Given the description of an element on the screen output the (x, y) to click on. 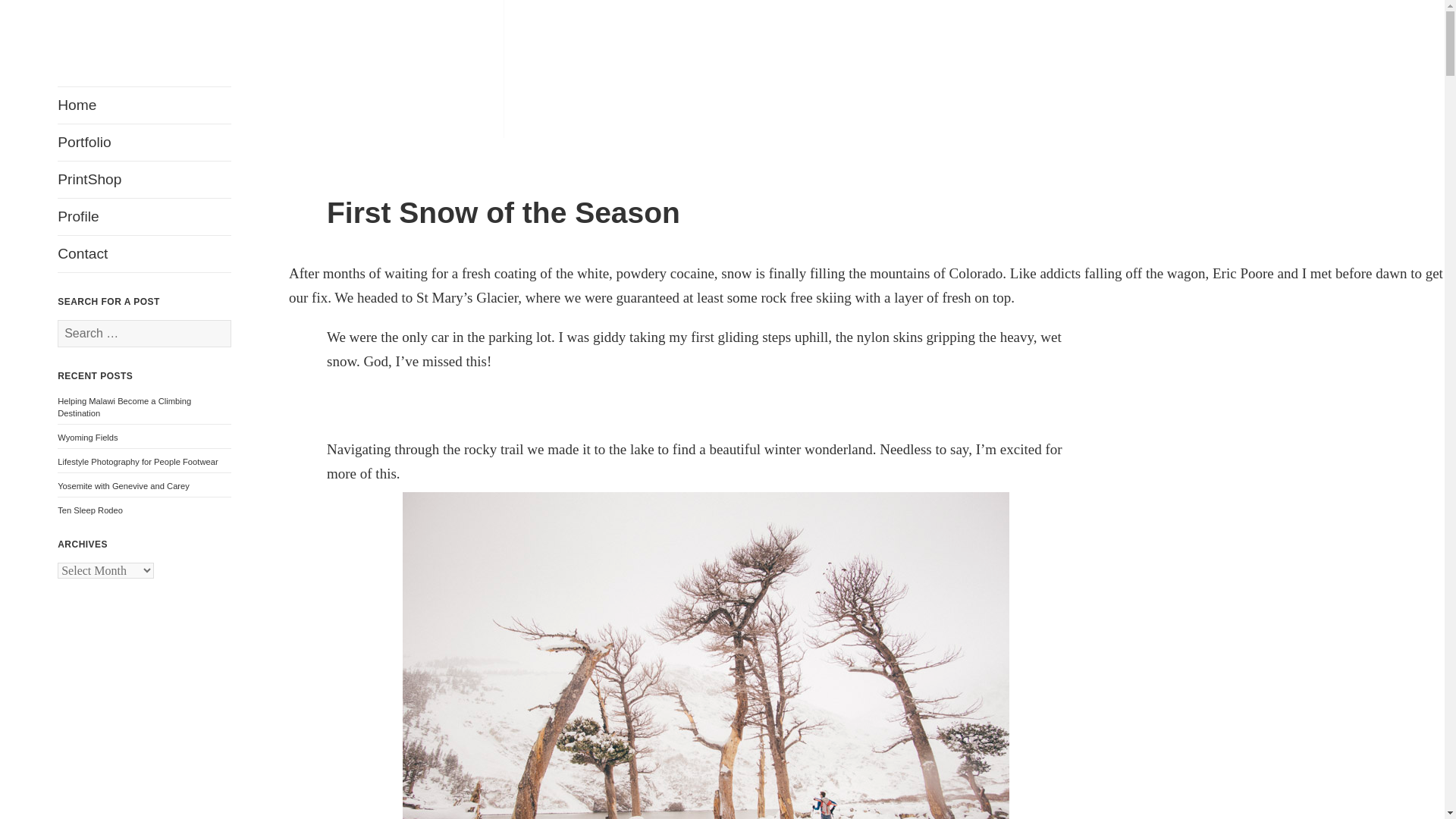
Wyoming Fields (87, 437)
Contact (144, 253)
Home (144, 104)
Helping Malawi Become a Climbing Destination (124, 406)
Wyoming Fields (87, 437)
PrintShop (144, 179)
Ten Sleep Rodeo (90, 510)
Lifestyle Photography for People Footwear (137, 461)
Profile (144, 217)
